Given the description of an element on the screen output the (x, y) to click on. 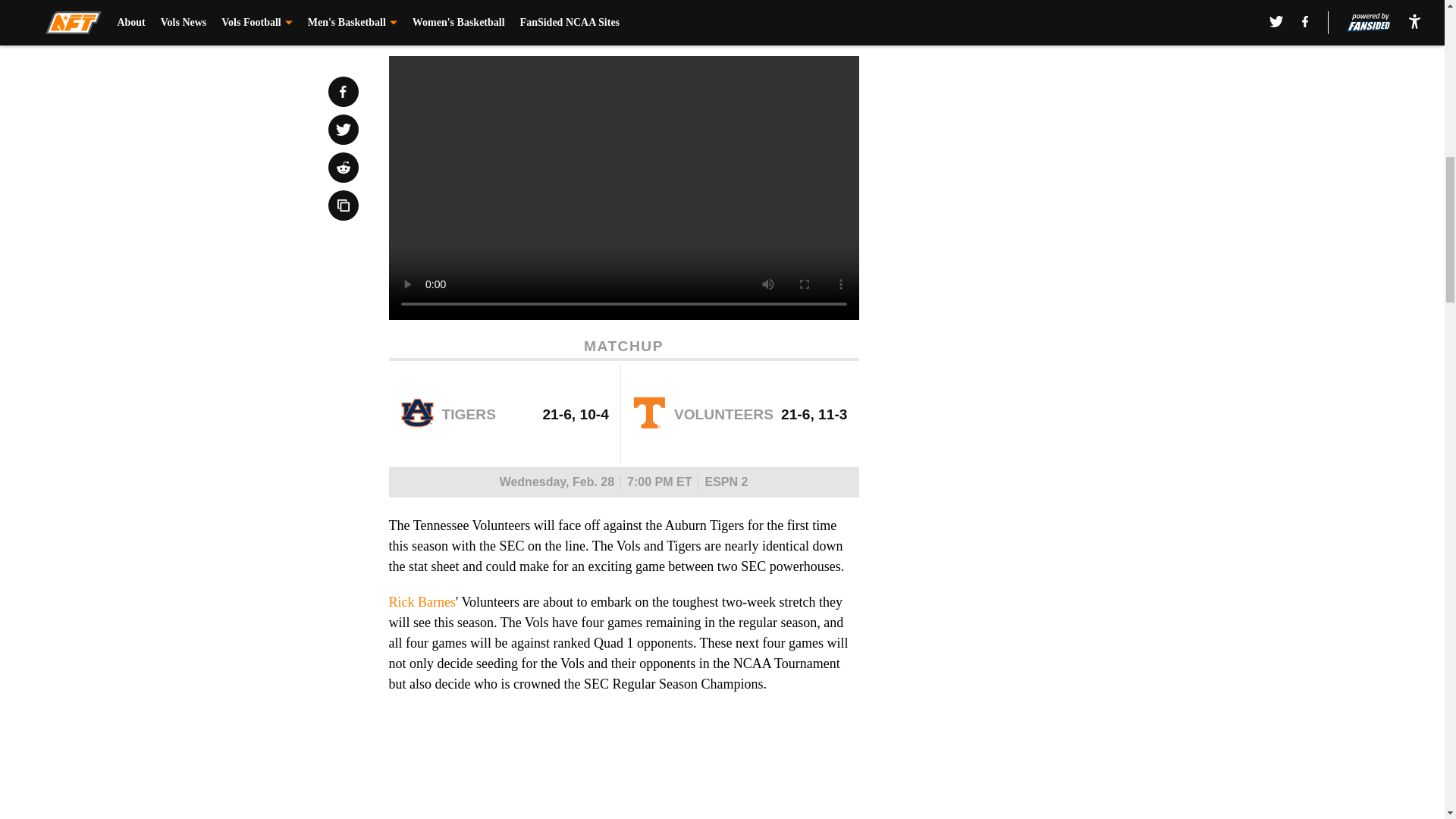
3rd party ad content (1047, 150)
3rd party ad content (1047, 371)
Rick Barnes (421, 601)
